Given the description of an element on the screen output the (x, y) to click on. 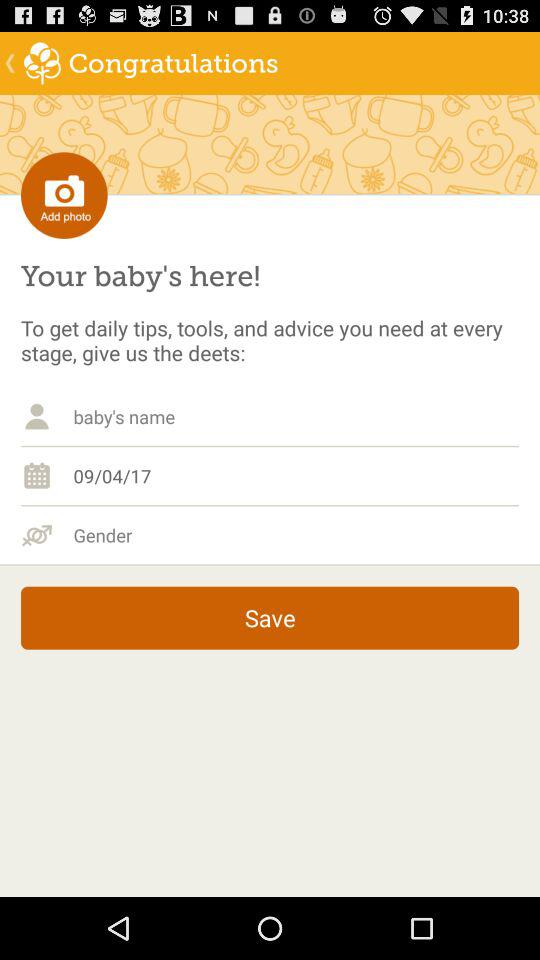
launch item above the your baby s (64, 194)
